Given the description of an element on the screen output the (x, y) to click on. 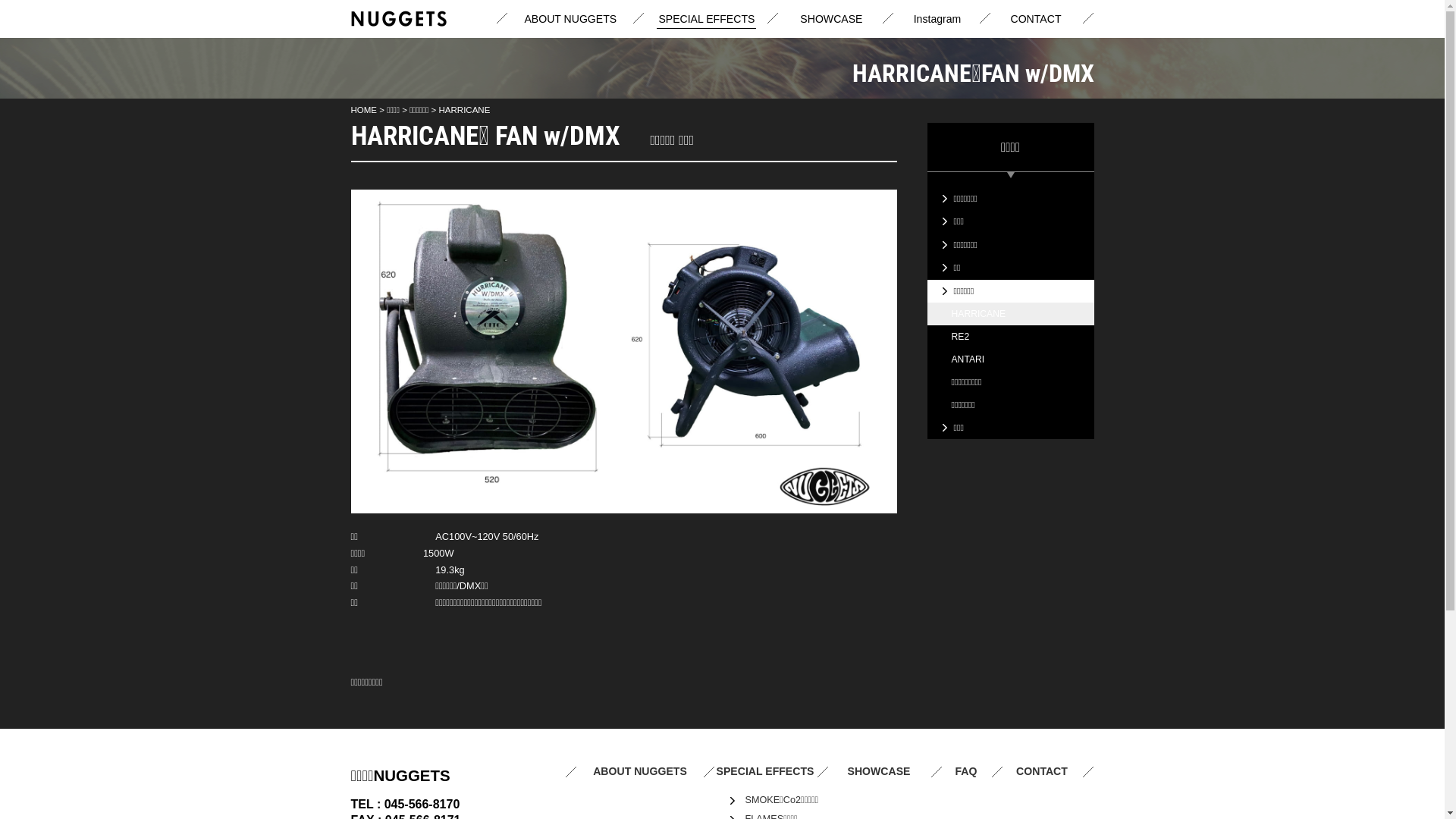
CONTACT Element type: text (1041, 771)
HARRICANE Element type: text (1009, 313)
SPECIAL EFFECTS Element type: text (765, 771)
TEL : 045-566-8170 Element type: text (404, 803)
RE2 Element type: text (1009, 336)
ANTARI Element type: text (1009, 359)
Instagram Element type: text (937, 20)
CONTACT Element type: text (1035, 20)
FAQ Element type: text (966, 771)
HOME Element type: text (363, 109)
SHOWCASE Element type: text (878, 771)
ABOUT NUGGETS Element type: text (640, 771)
ABOUT NUGGETS Element type: text (570, 20)
SPECIAL EFFECTS Element type: text (706, 20)
SHOWCASE Element type: text (830, 20)
